Given the description of an element on the screen output the (x, y) to click on. 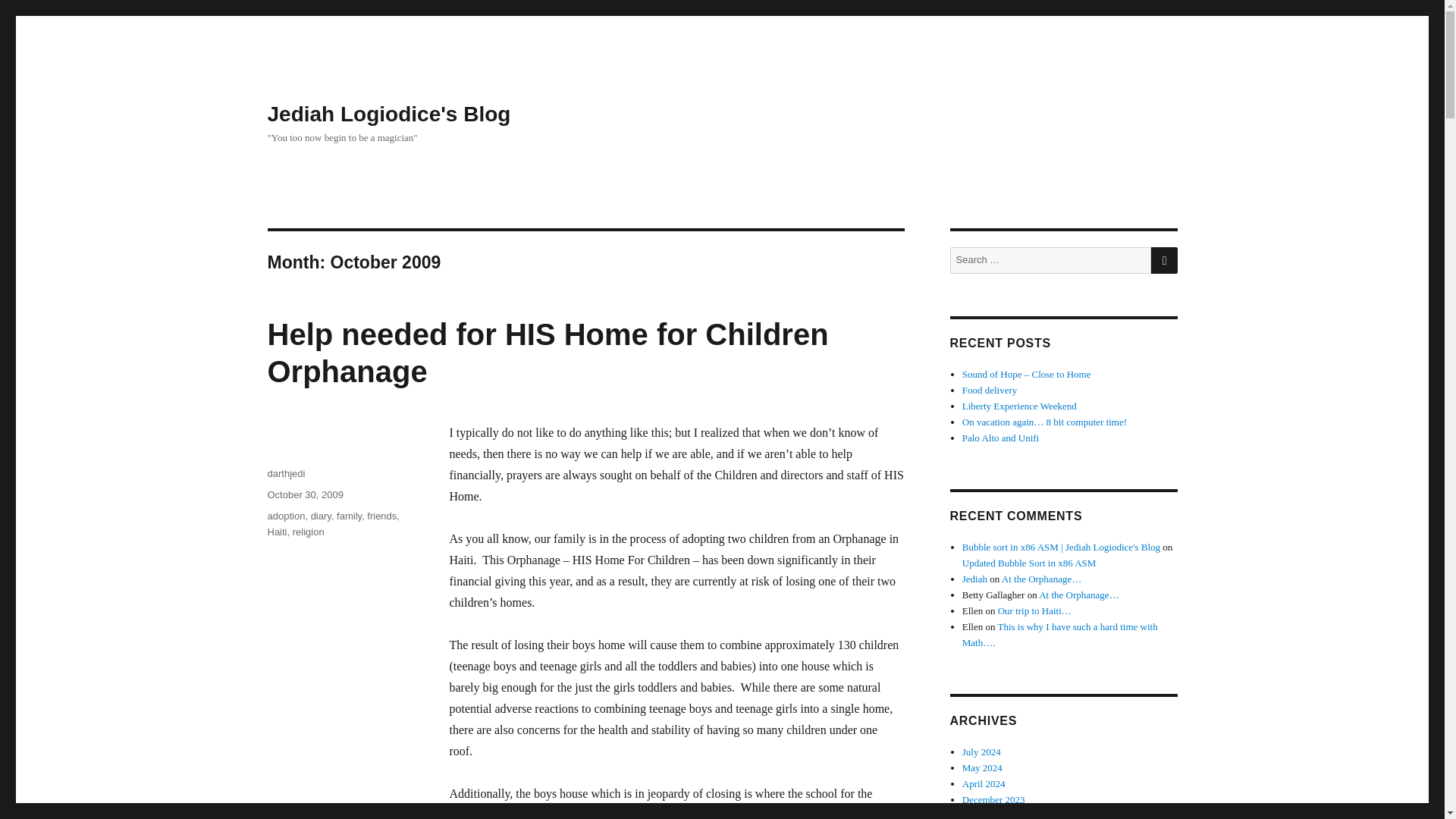
religion (308, 531)
adoption (285, 515)
October 30, 2009 (304, 494)
Help needed for HIS Home for Children Orphanage (547, 352)
Haiti (276, 531)
darthjedi (285, 473)
Jediah Logiodice's Blog (388, 114)
family (348, 515)
diary (321, 515)
friends (381, 515)
